Given the description of an element on the screen output the (x, y) to click on. 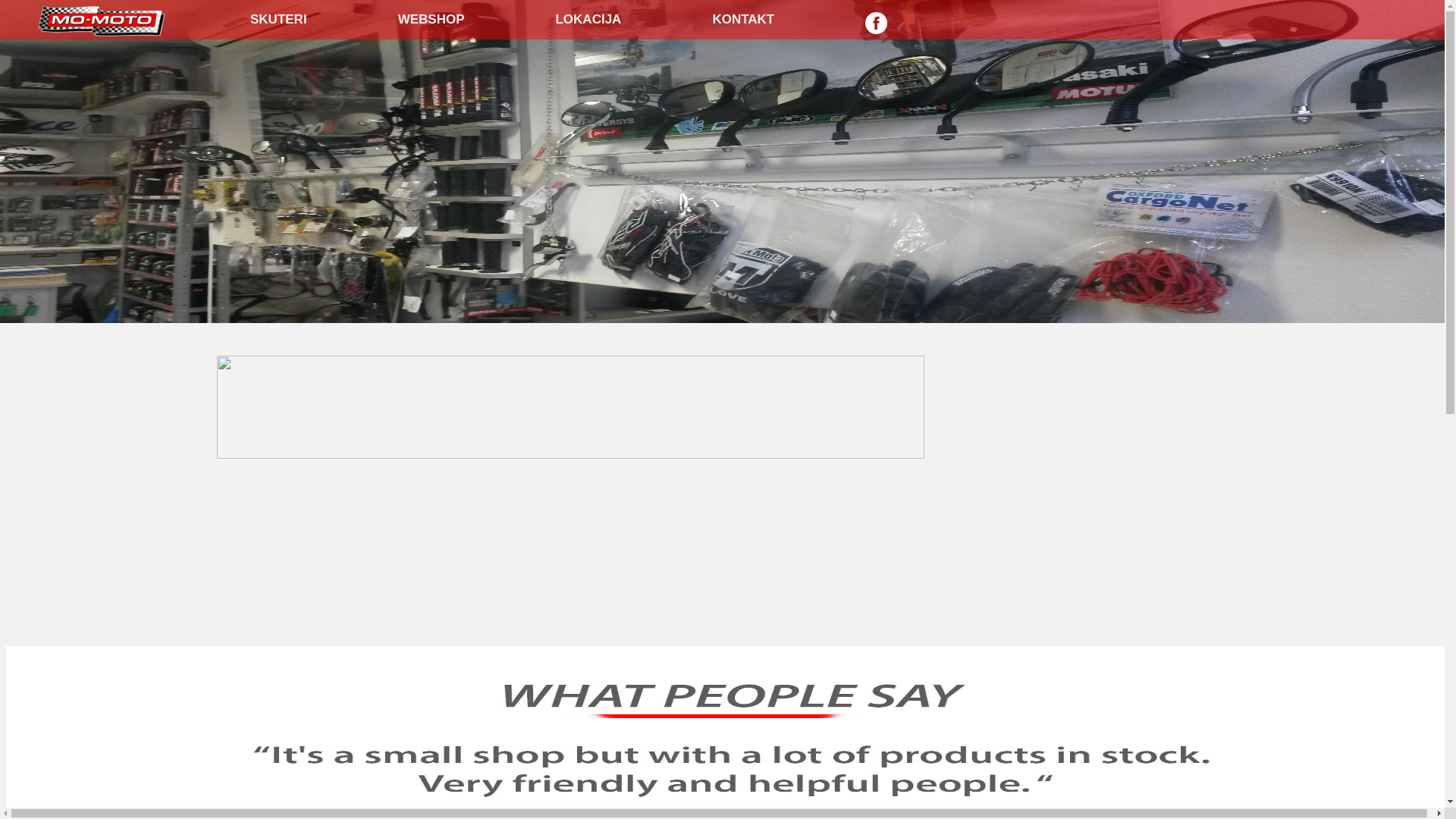
LOKACIJA Element type: text (587, 19)
KONTAKT Element type: text (742, 19)
SKUTERI Element type: text (278, 19)
WEBSHOP Element type: text (431, 19)
